Given the description of an element on the screen output the (x, y) to click on. 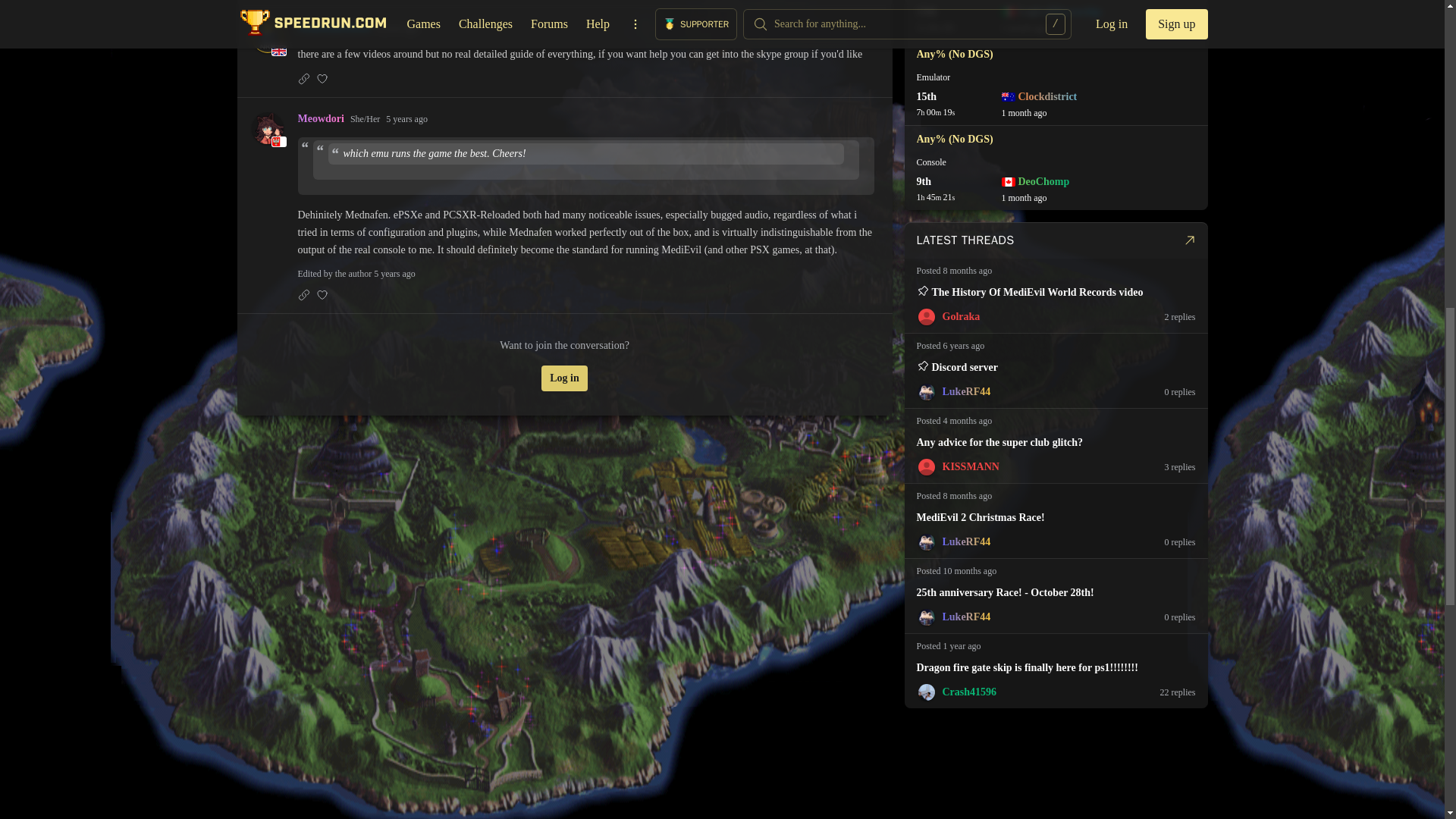
Run starts at 7:04 (1055, 20)
